Given the description of an element on the screen output the (x, y) to click on. 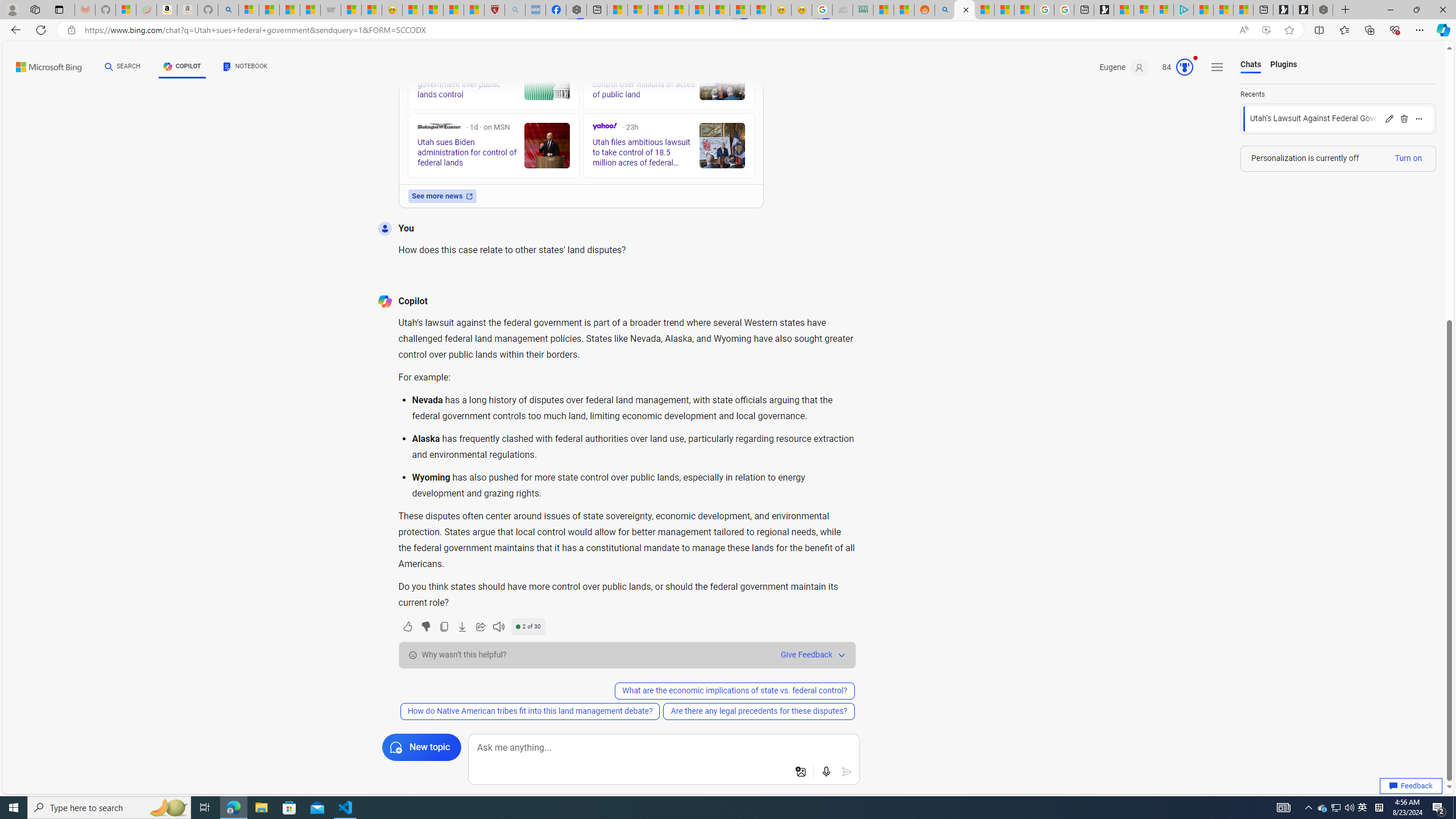
Utah sues Biden administration for control of federal lands (546, 145)
Back to Bing search (41, 64)
Microsoft Copilot in Bing (964, 9)
Washington Examiner on MSN.com (438, 125)
